Given the description of an element on the screen output the (x, y) to click on. 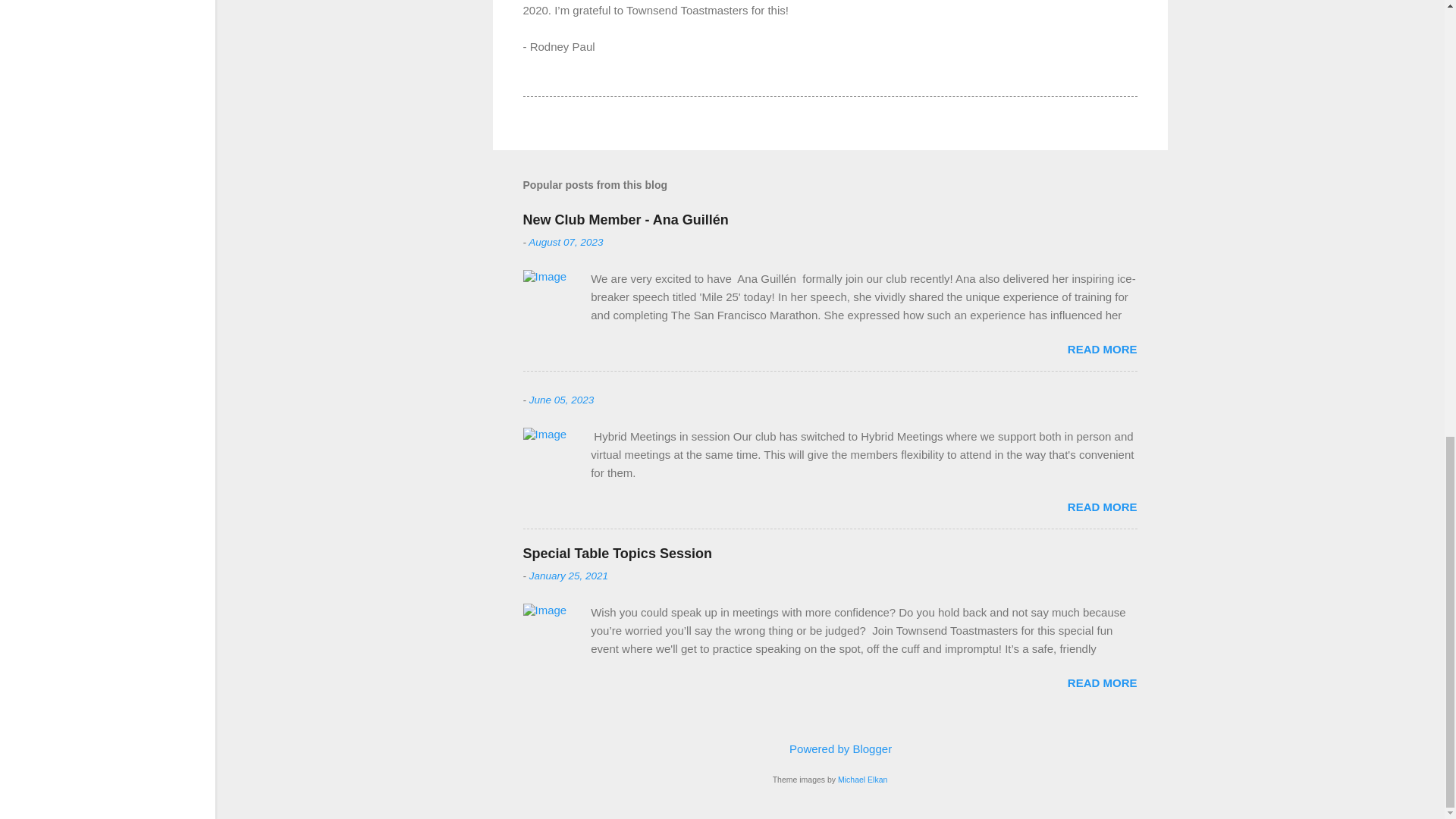
permanent link (561, 399)
Powered by Blogger (829, 748)
January 25, 2021 (568, 575)
August 07, 2023 (565, 242)
Special Table Topics Session (1102, 682)
Special Table Topics Session (616, 553)
READ MORE (1102, 682)
permanent link (568, 575)
READ MORE (1102, 506)
Michael Elkan (862, 778)
